Given the description of an element on the screen output the (x, y) to click on. 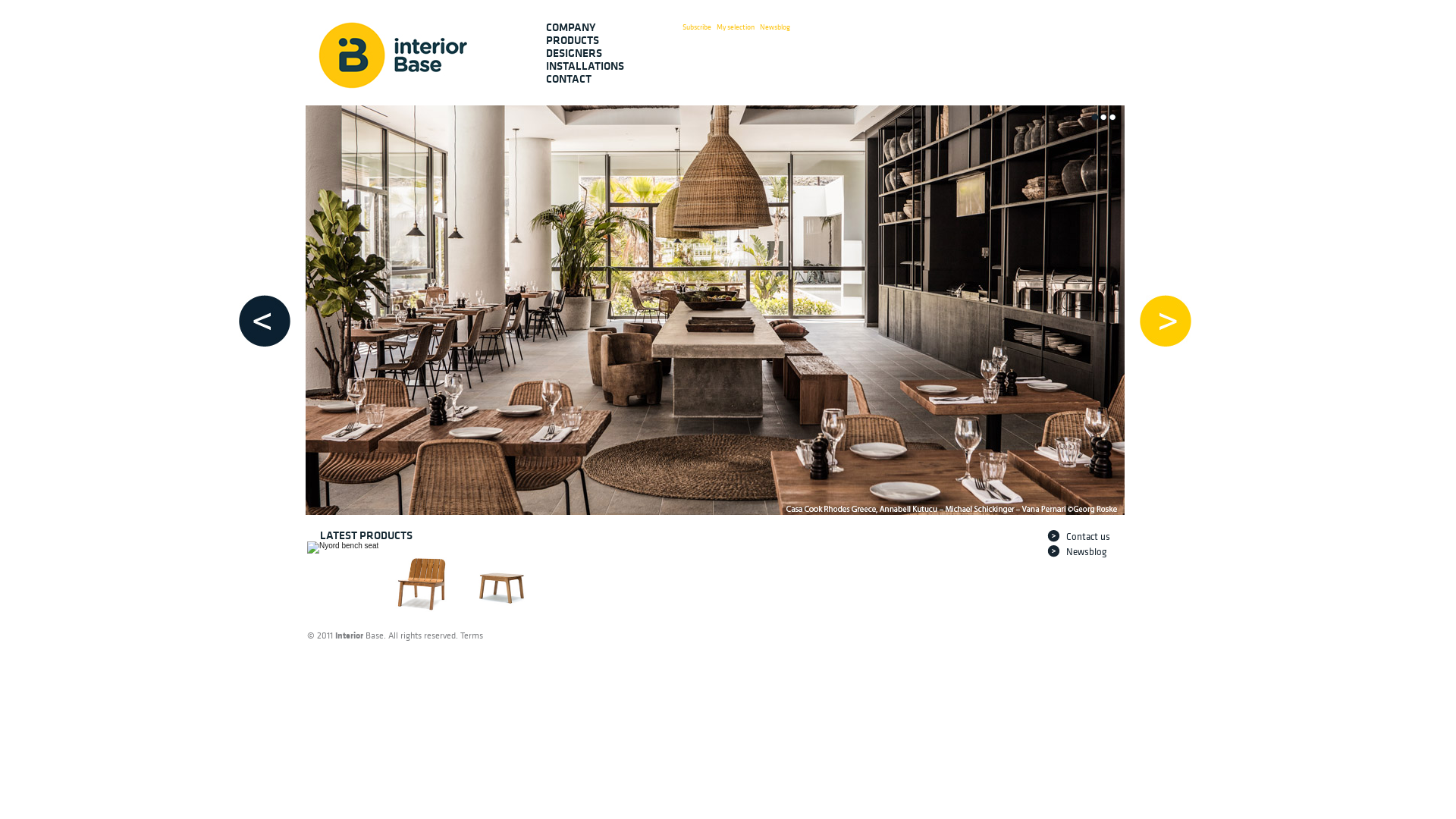
Newsblog Element type: text (1096, 551)
Terms Element type: text (471, 634)
INSTALLATIONS Element type: text (587, 66)
My selection Element type: text (734, 26)
Newsblog Element type: text (774, 26)
Nyord bench seat Element type: hover (342, 547)
Nyord side table Element type: hover (501, 577)
  Element type: text (1094, 119)
Contact us Element type: text (1096, 536)
CONTACT Element type: text (587, 78)
Nyord chair Element type: hover (421, 577)
PRODUCTS Element type: text (587, 40)
  Element type: text (1103, 119)
Casa Cook Rhodes, Greece Element type: hover (714, 309)
DESIGNERS Element type: text (587, 53)
COMPANY Element type: text (587, 27)
  Element type: text (1112, 119)
Subscribe Element type: text (696, 26)
